Given the description of an element on the screen output the (x, y) to click on. 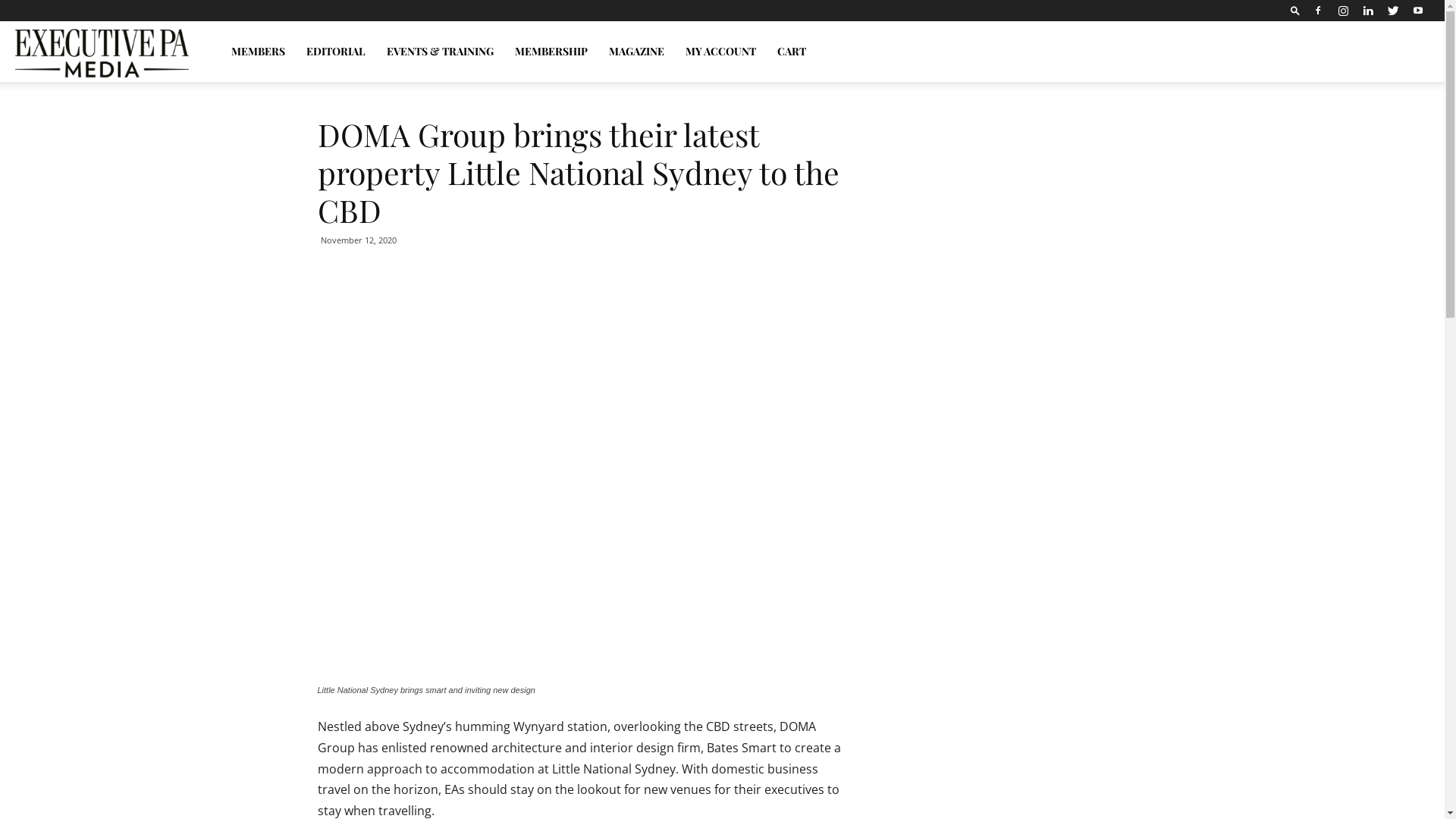
MAGAZINE Element type: text (636, 51)
EVENTS & TRAINING Element type: text (440, 51)
CART Element type: text (791, 51)
Twitter Element type: hover (1392, 10)
EDITORIAL Element type: text (335, 51)
Facebook Element type: hover (1317, 10)
MY ACCOUNT Element type: text (720, 51)
Executive PA Media Element type: text (101, 52)
MEMBERSHIP Element type: text (551, 51)
MEMBERS Element type: text (257, 51)
Instagram Element type: hover (1342, 10)
Search Element type: text (1379, 64)
Youtube Element type: hover (1417, 10)
Linkedin Element type: hover (1367, 10)
